Given the description of an element on the screen output the (x, y) to click on. 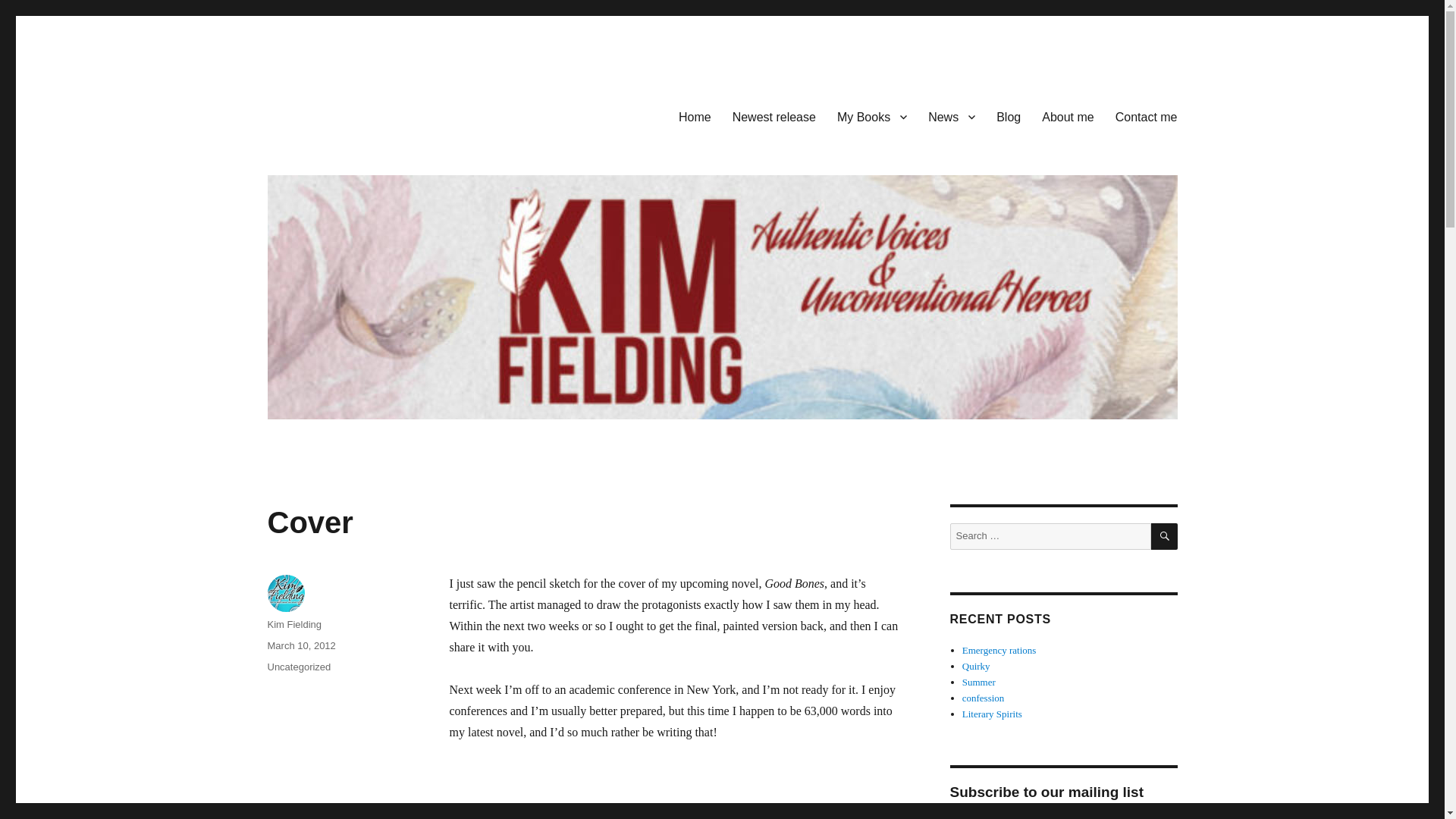
Blog (1007, 116)
Newest release (774, 116)
Kim Fielding Writes (365, 114)
confession (983, 697)
Contact me (1146, 116)
Summer (978, 681)
Literary Spirits (992, 713)
Quirky (976, 665)
March 10, 2012 (300, 645)
Home (695, 116)
News (951, 116)
Kim Fielding (293, 624)
Uncategorized (298, 666)
My Books (872, 116)
Emergency rations (999, 650)
